Given the description of an element on the screen output the (x, y) to click on. 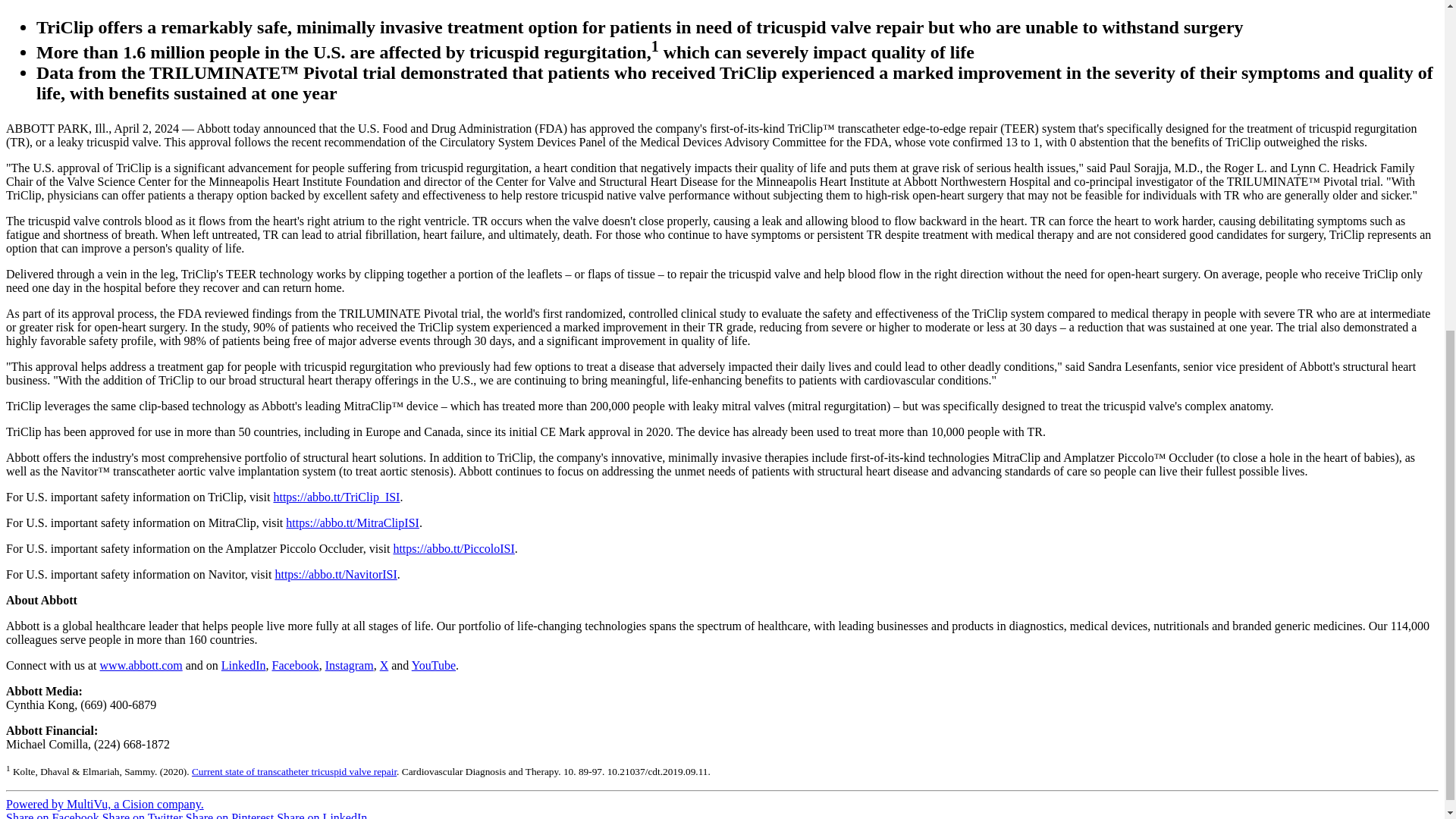
LinkedIn (243, 665)
www.abbott.com (141, 665)
Instagram (349, 665)
LinkedIn (243, 665)
www.abbott.com (141, 665)
Current state of transcatheter tricuspid valve repair (294, 771)
Instagram (349, 665)
Powered by MultiVu, a Cision company. (104, 803)
Facebook (294, 665)
Facebook (294, 665)
Current state of transcatheter tricuspid valve repair (294, 771)
YouTube (433, 665)
YouTube (433, 665)
